Given the description of an element on the screen output the (x, y) to click on. 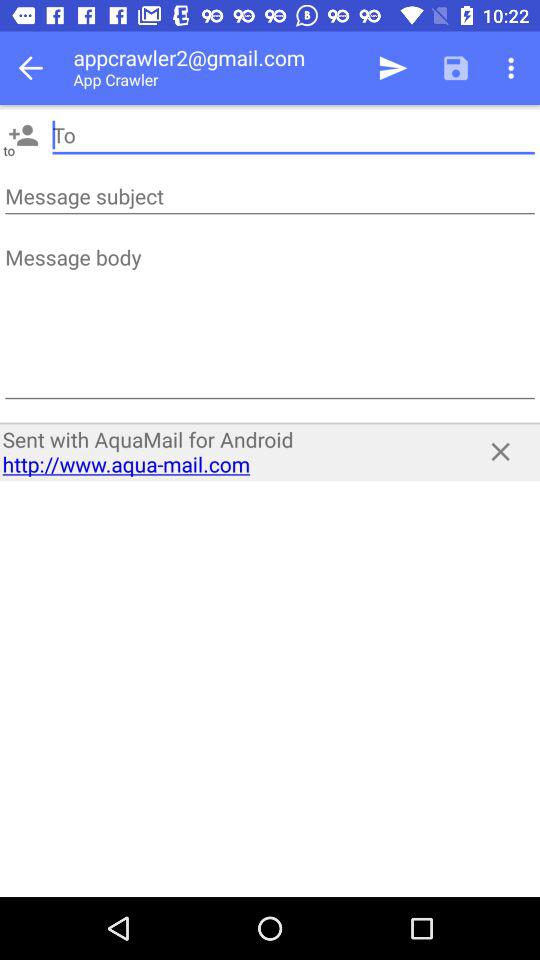
choose sent with aquamail app (228, 451)
